Given the description of an element on the screen output the (x, y) to click on. 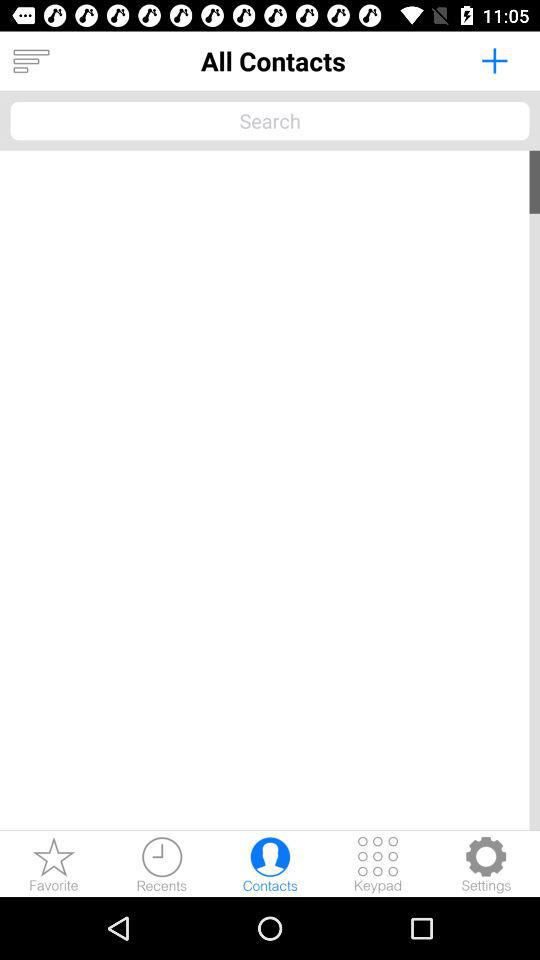
more options (31, 61)
